Given the description of an element on the screen output the (x, y) to click on. 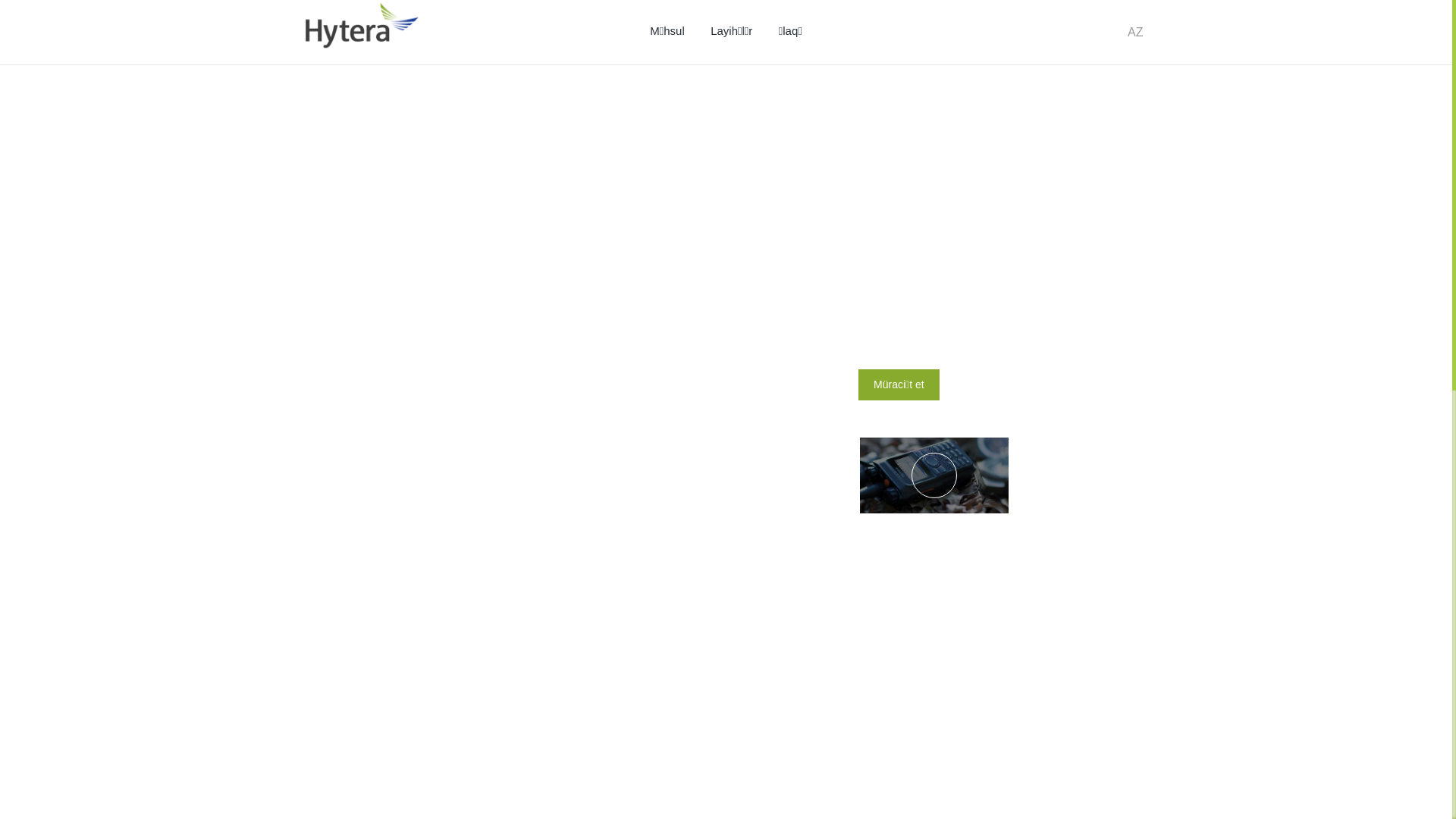
AZ Element type: text (1134, 32)
